Given the description of an element on the screen output the (x, y) to click on. 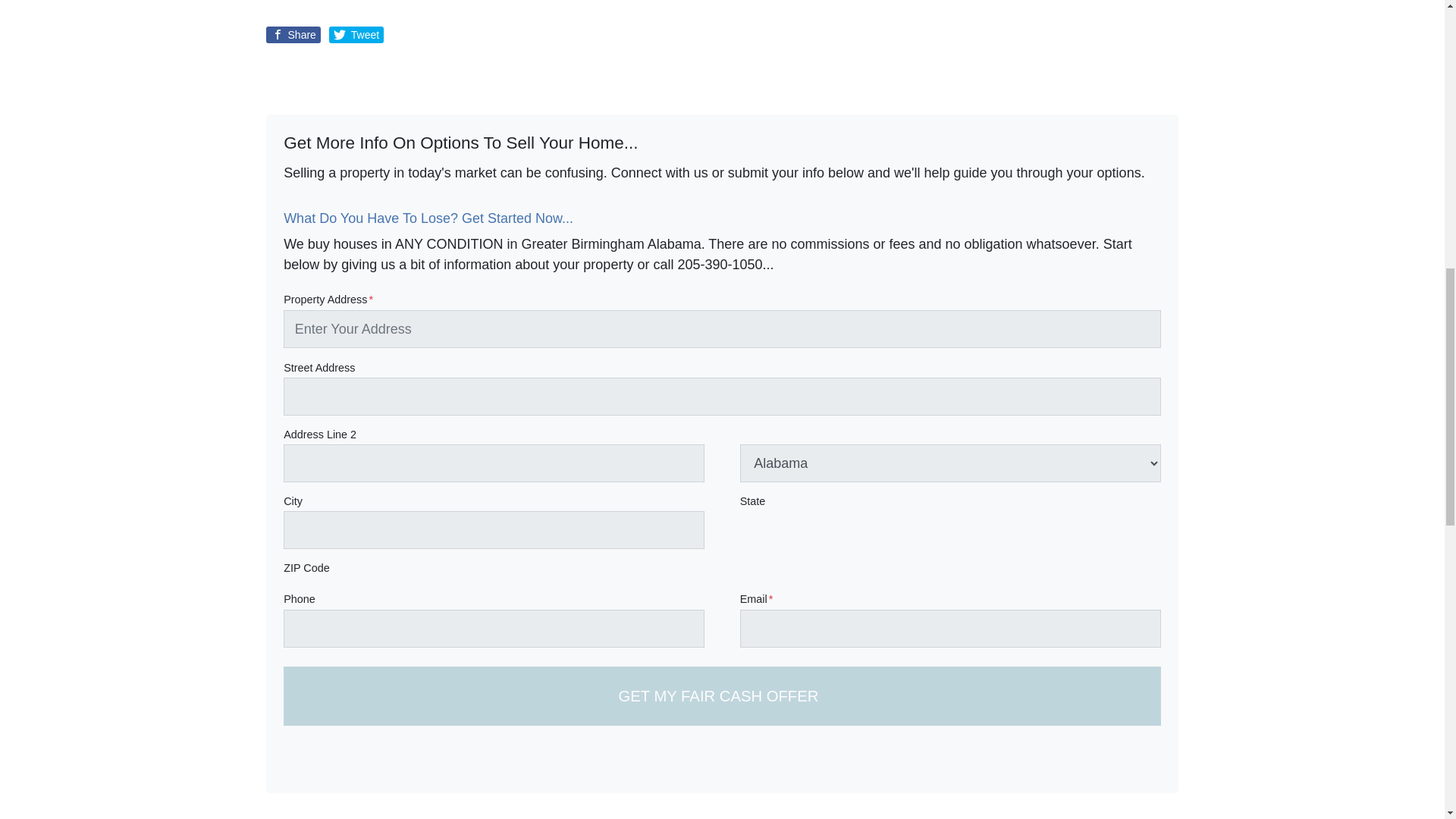
Share on Twitter (356, 34)
GET MY FAIR CASH OFFER (721, 695)
Tweet (356, 34)
Share (293, 34)
Facebook (1149, 763)
Share on Facebook (293, 34)
